Given the description of an element on the screen output the (x, y) to click on. 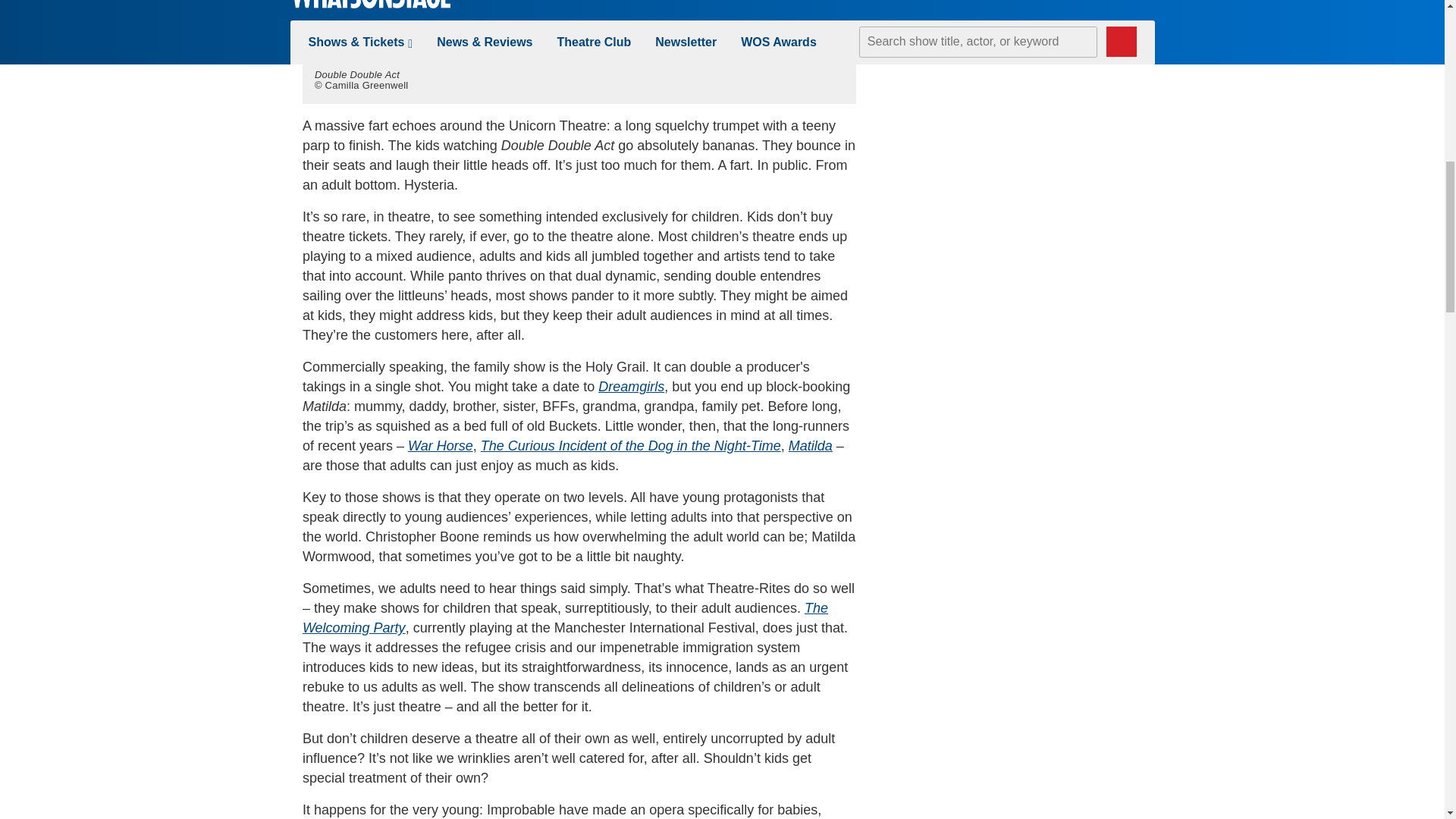
Double Double Act (579, 28)
